Given the description of an element on the screen output the (x, y) to click on. 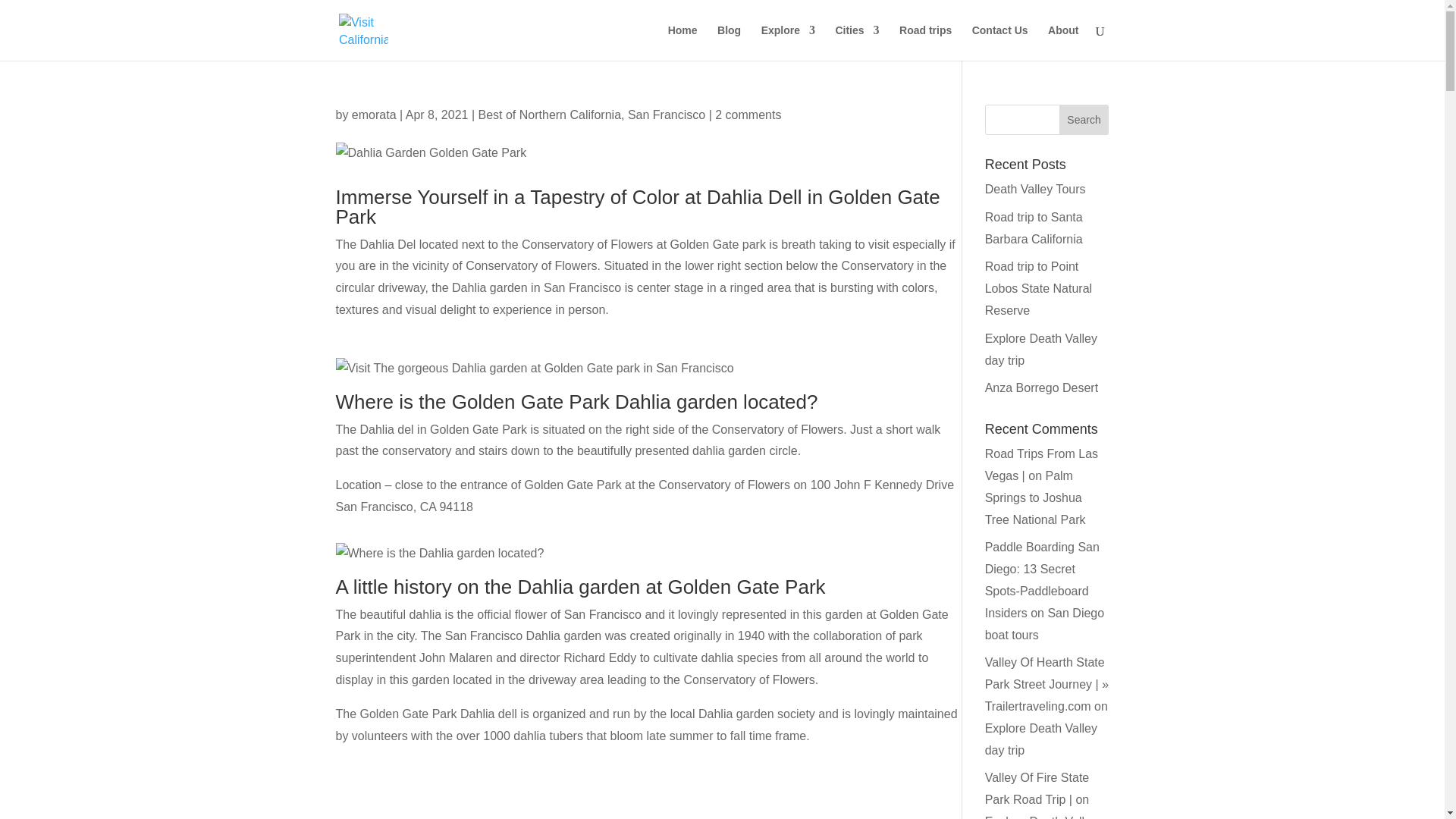
Best of Northern California (549, 114)
Contact Us (999, 42)
2 comments (747, 114)
Cities (856, 42)
Road trips (925, 42)
Posts by emorata (374, 114)
emorata (374, 114)
Search (1084, 119)
Explore (788, 42)
San Francisco (665, 114)
